Given the description of an element on the screen output the (x, y) to click on. 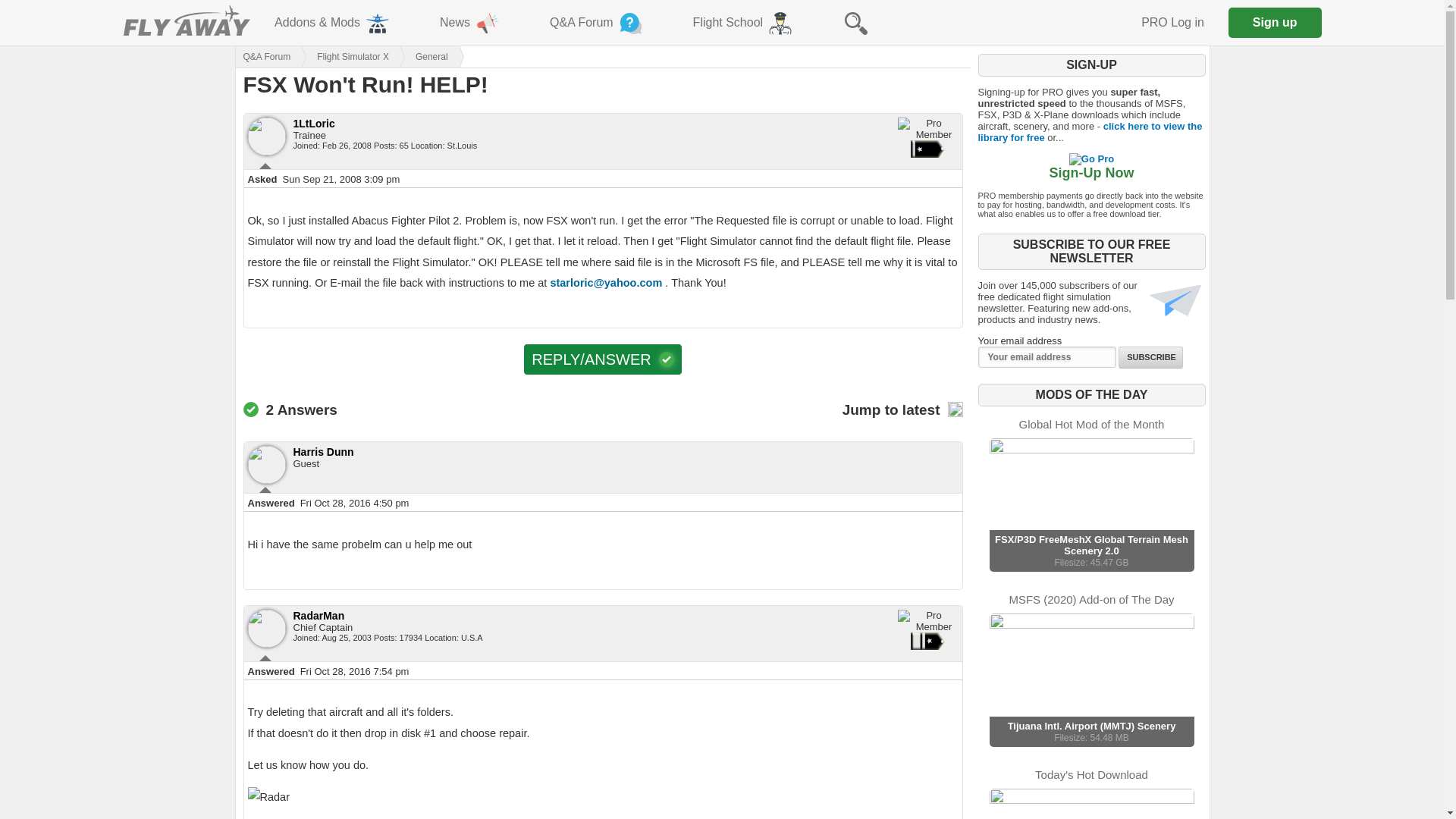
Flight School (743, 22)
Subscribe (1150, 357)
Pro Member (928, 620)
click here to view the library for free (1090, 131)
Pro Member (928, 128)
Sign-Up Now (1091, 166)
Post a reply or answer to this question (601, 359)
Login to your Fly Away Simulation account (1172, 22)
Sign up (1275, 22)
